Given the description of an element on the screen output the (x, y) to click on. 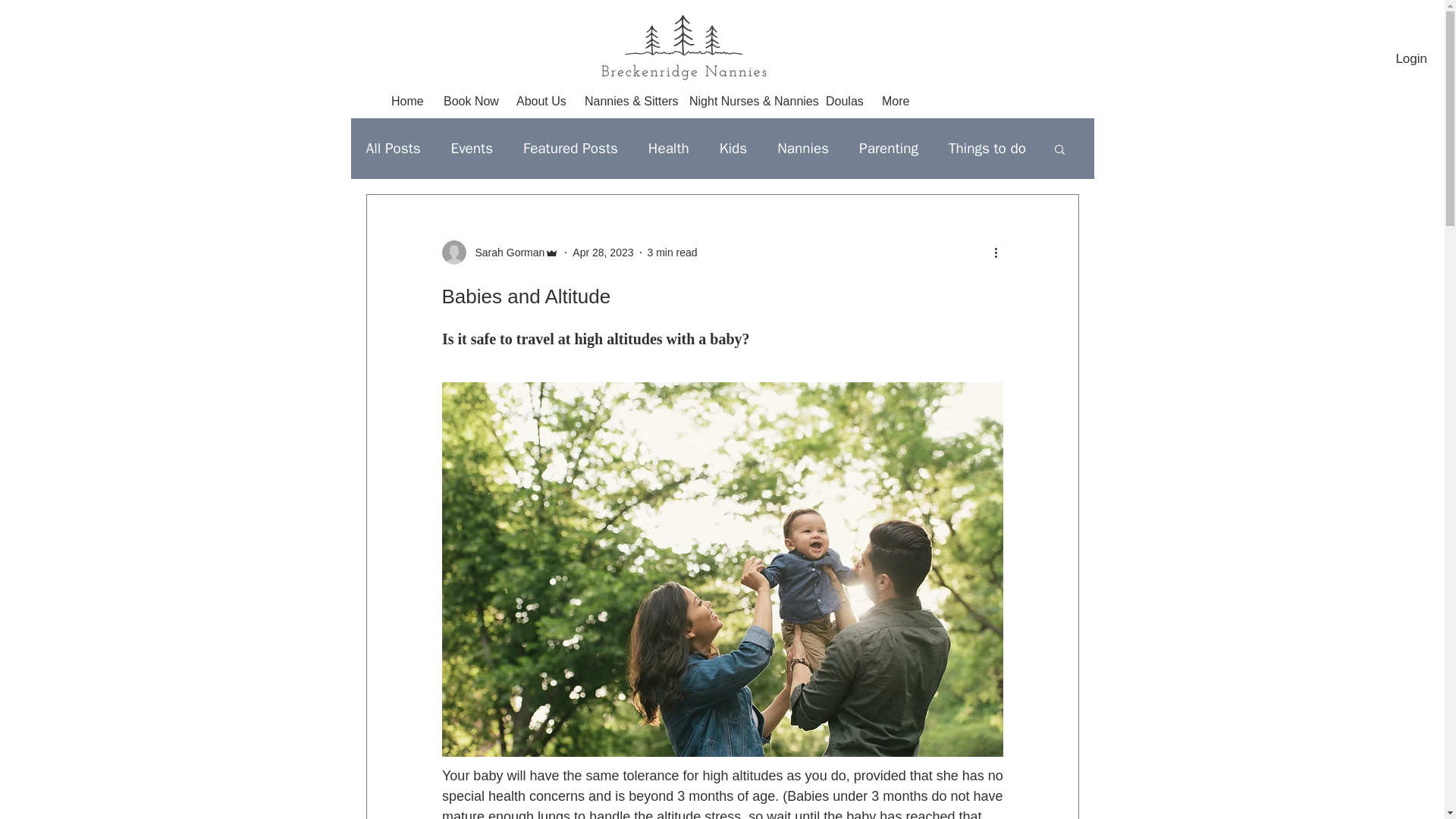
Nannies (802, 148)
Home (406, 101)
Book Now (468, 101)
3 min read (672, 251)
Apr 28, 2023 (602, 251)
Login (1411, 58)
Parenting (888, 148)
All Posts (392, 148)
Featured Posts (569, 148)
Events (472, 148)
